Given the description of an element on the screen output the (x, y) to click on. 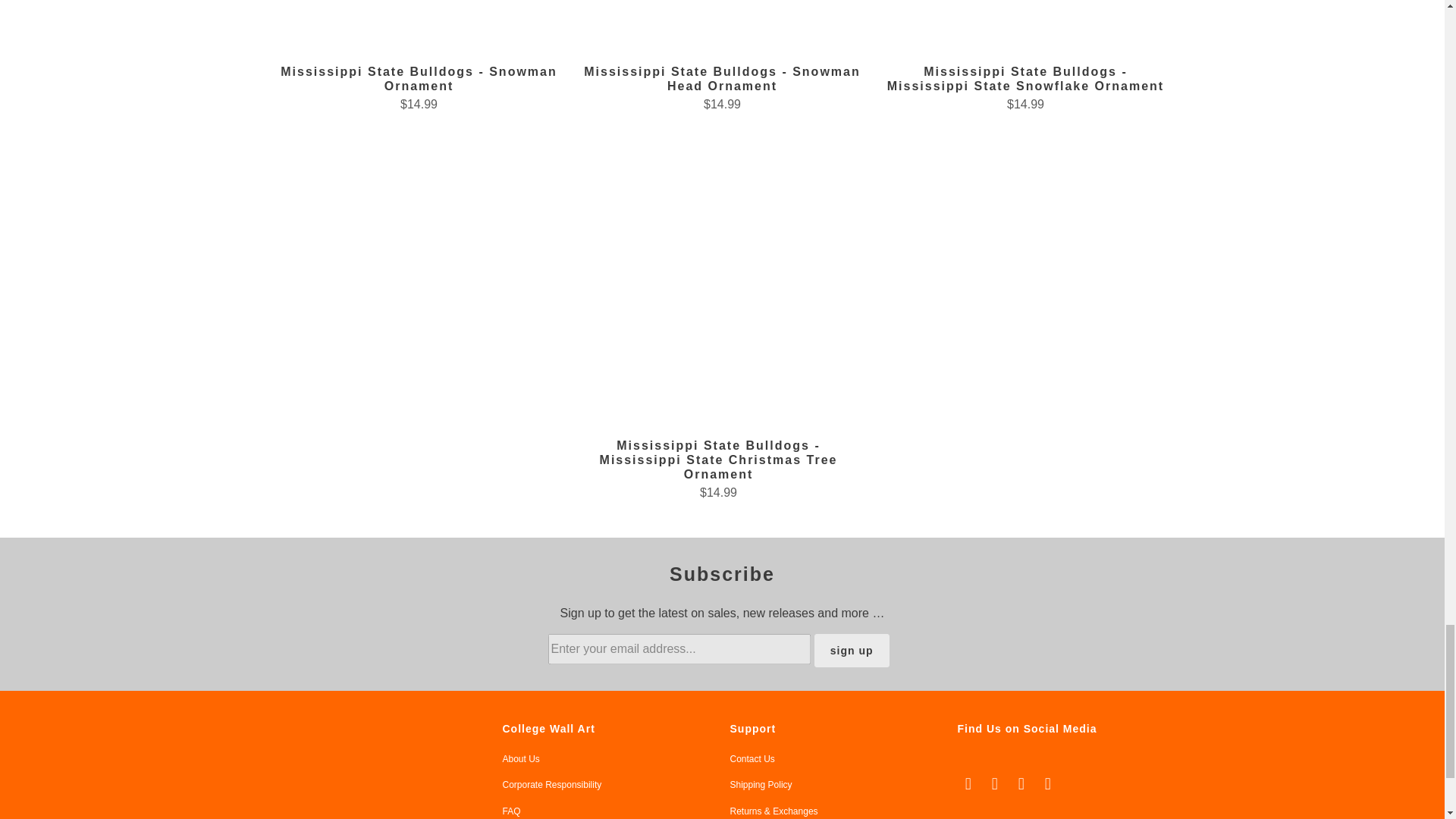
College Wall Art on Instagram (1047, 783)
Sign Up (851, 650)
College Wall Art on Facebook (995, 783)
College Wall Art on Twitter (967, 783)
College Wall Art on Pinterest (1021, 783)
